Given the description of an element on the screen output the (x, y) to click on. 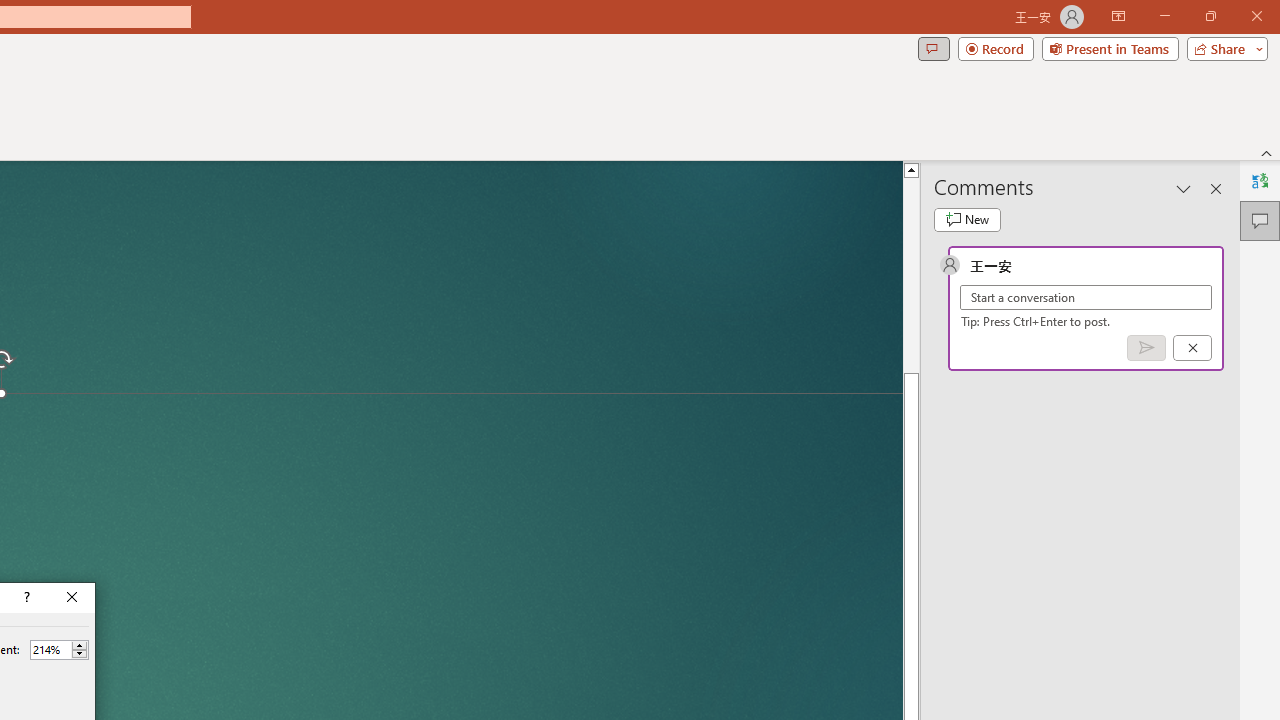
Start a conversation (1085, 297)
Post comment (Ctrl + Enter) (1146, 347)
